Given the description of an element on the screen output the (x, y) to click on. 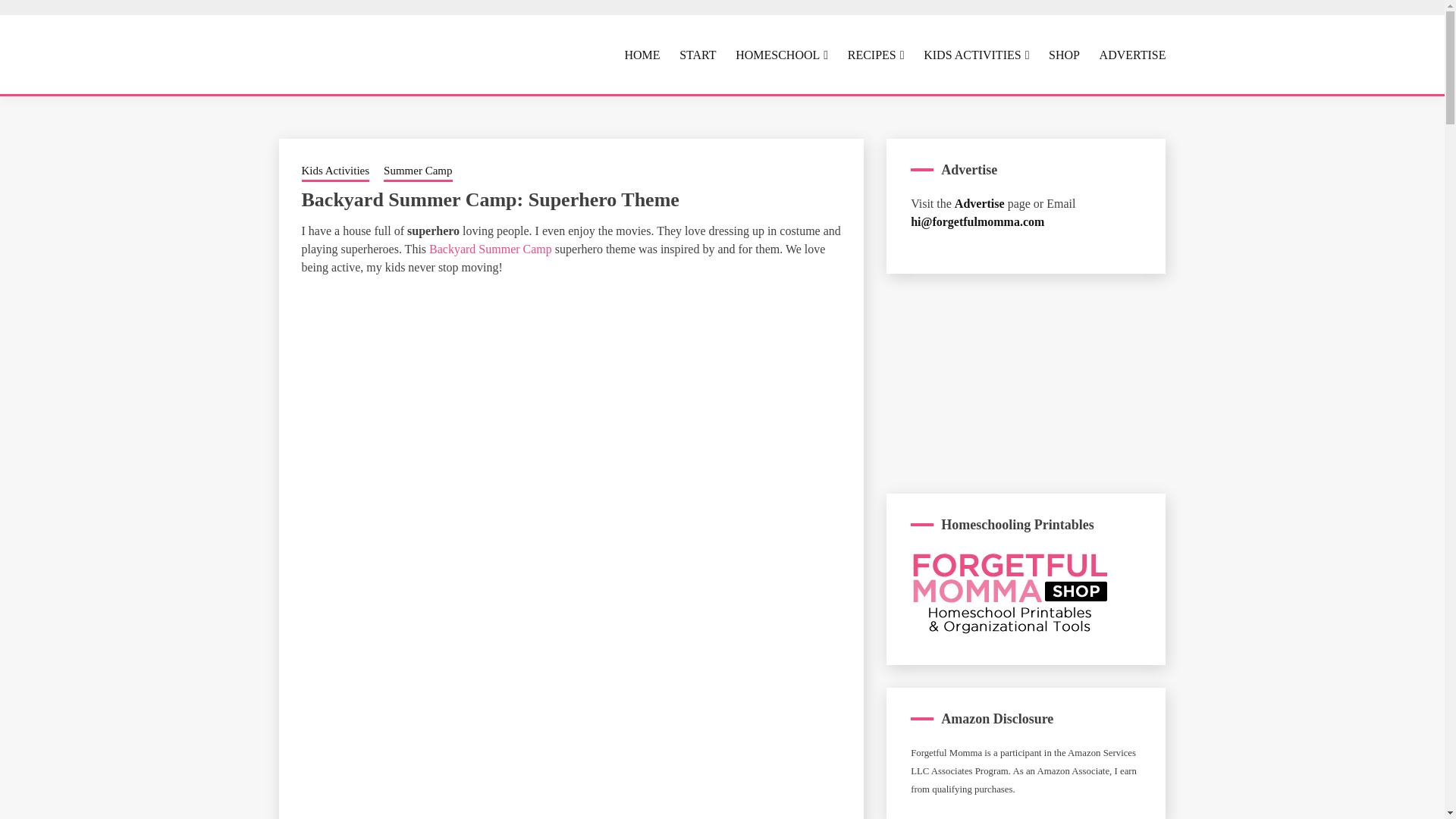
HOMESCHOOL (781, 54)
KIDS ACTIVITIES (976, 54)
HOME (641, 54)
FORGETFUL MOMMA (521, 106)
START (697, 54)
SHOP (1064, 54)
Kids Activities (335, 171)
Summer Camp (417, 171)
Backyard Summer Camp (491, 248)
RECIPES (875, 54)
ADVERTISE (1132, 54)
